Given the description of an element on the screen output the (x, y) to click on. 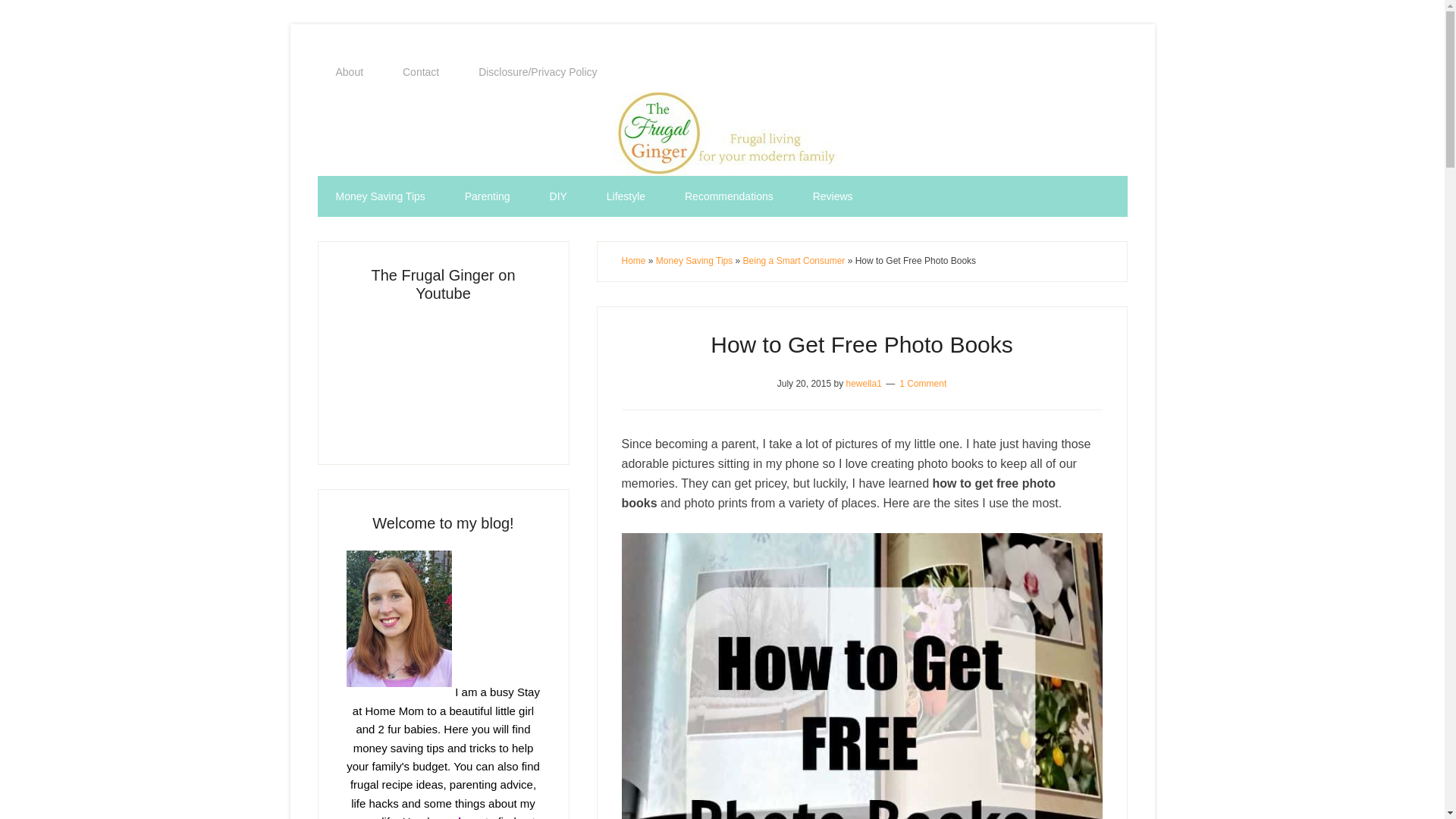
About (349, 71)
Contact (420, 71)
Lifestyle (625, 196)
Parenting (487, 196)
Reviews (832, 196)
Money Saving Tips (694, 260)
Recommendations (729, 196)
hewella1 (862, 382)
1 Comment (922, 382)
Being a Smart Consumer (793, 260)
